Given the description of an element on the screen output the (x, y) to click on. 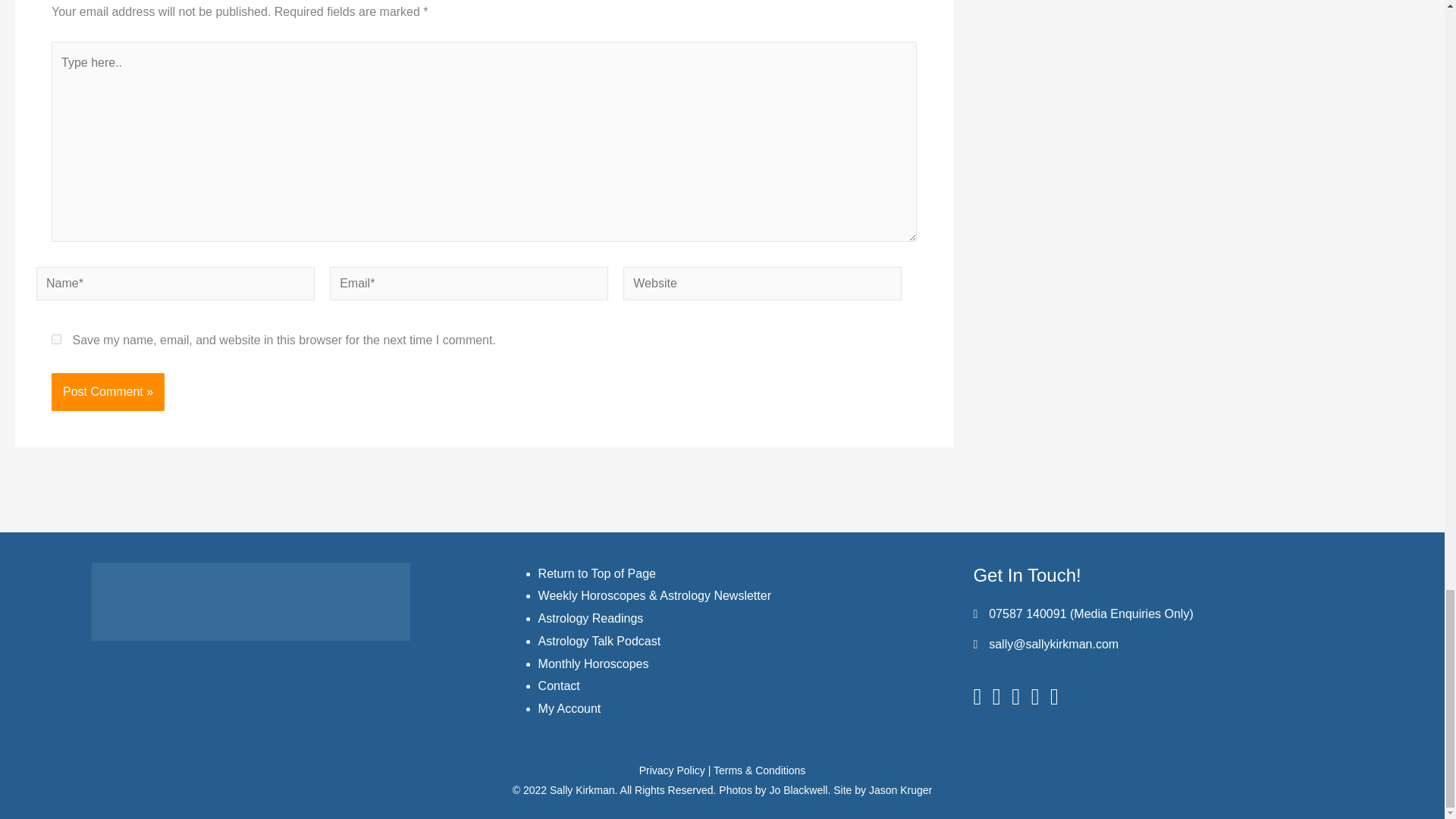
SALLY KIRKMAN ASTROLOGER WHITE (250, 601)
yes (55, 338)
